Given the description of an element on the screen output the (x, y) to click on. 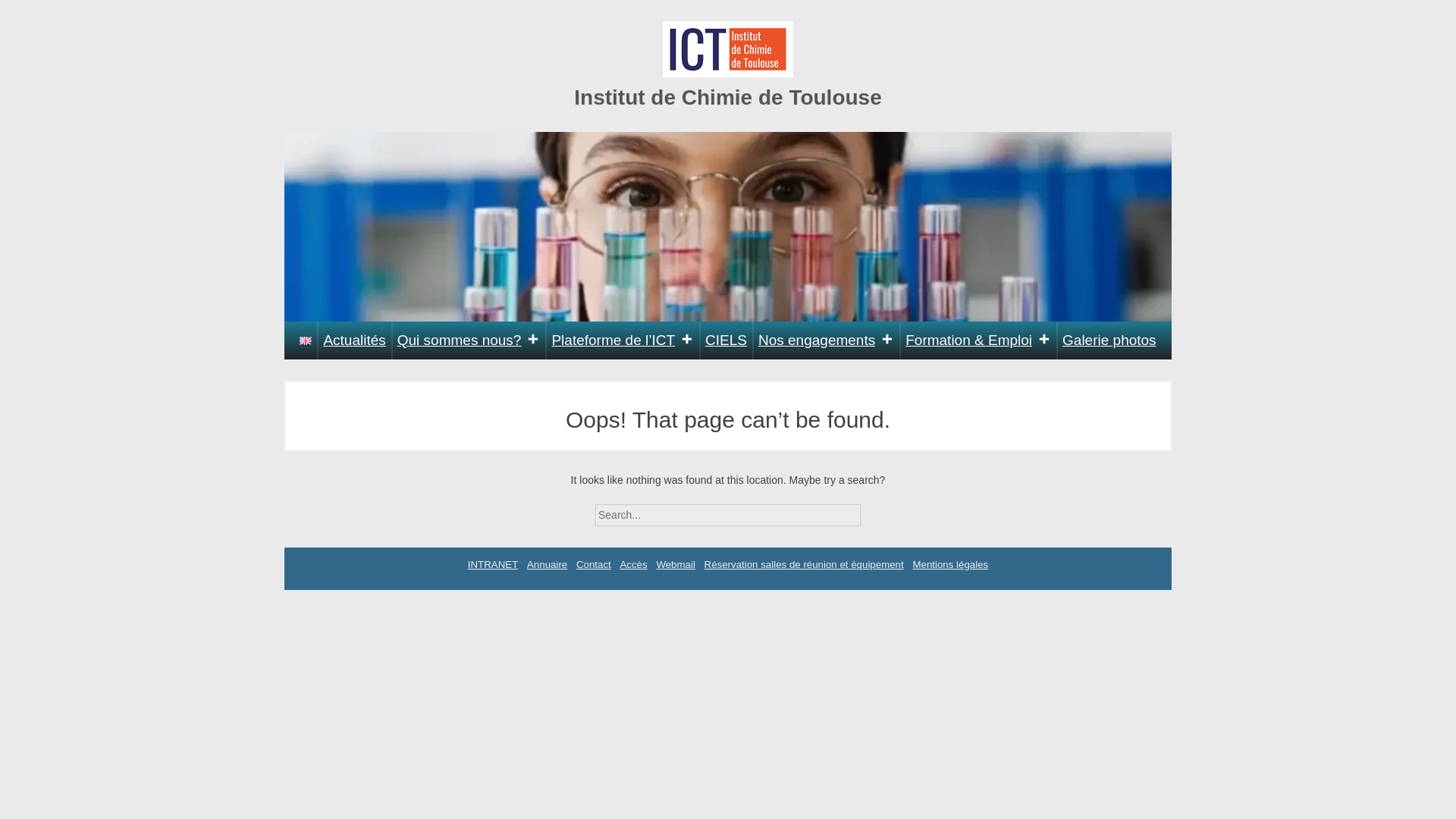
Search (873, 509)
Nos engagements (825, 340)
Search (873, 509)
CIELS (726, 340)
Institut de Chimie de Toulouse (727, 97)
Qui sommes nous? (468, 340)
